Given the description of an element on the screen output the (x, y) to click on. 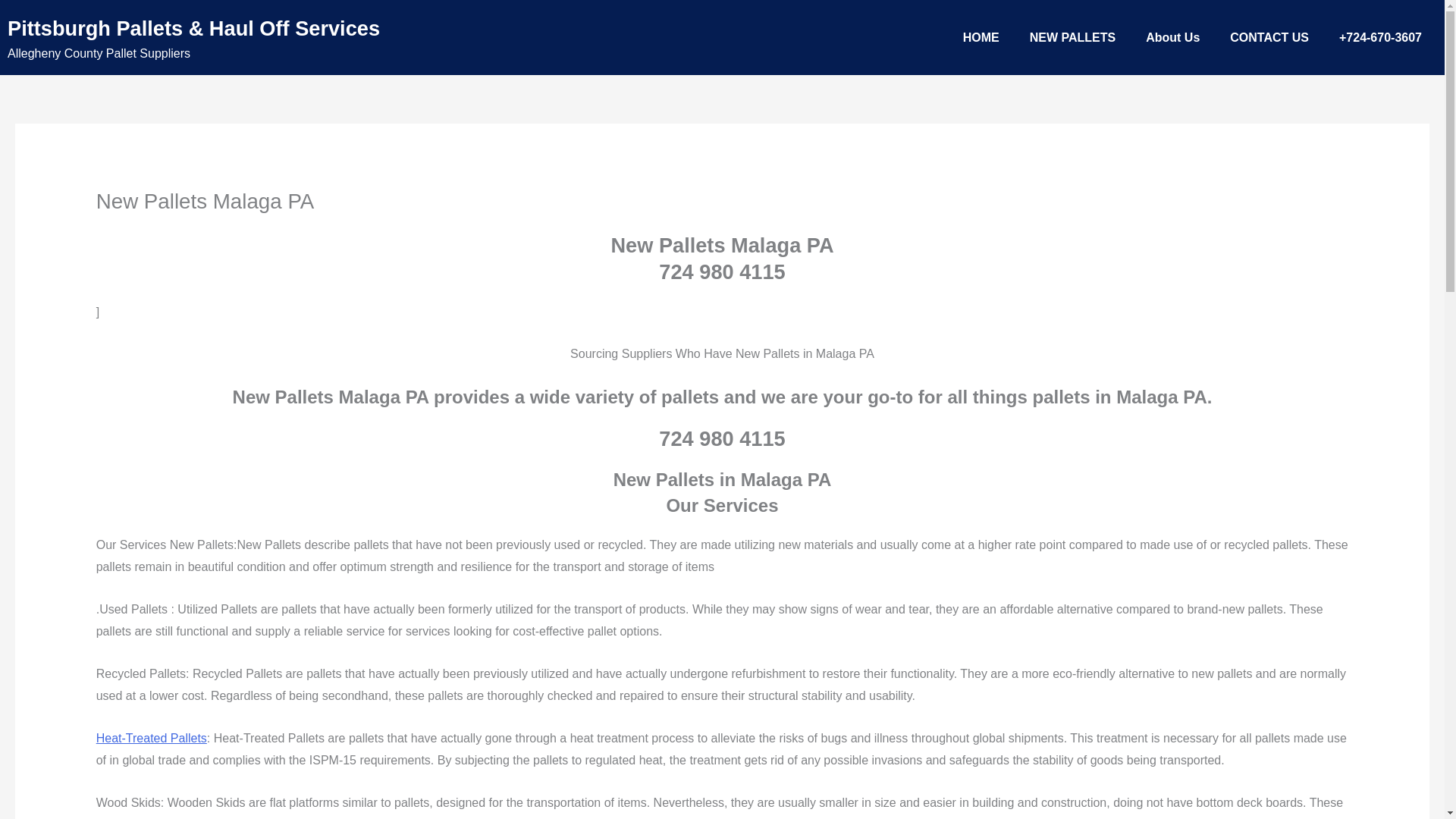
About Us (1172, 37)
CONTACT US (1268, 37)
NEW PALLETS (1072, 37)
HOME (980, 37)
Heat-Treated Pallets (151, 738)
